Given the description of an element on the screen output the (x, y) to click on. 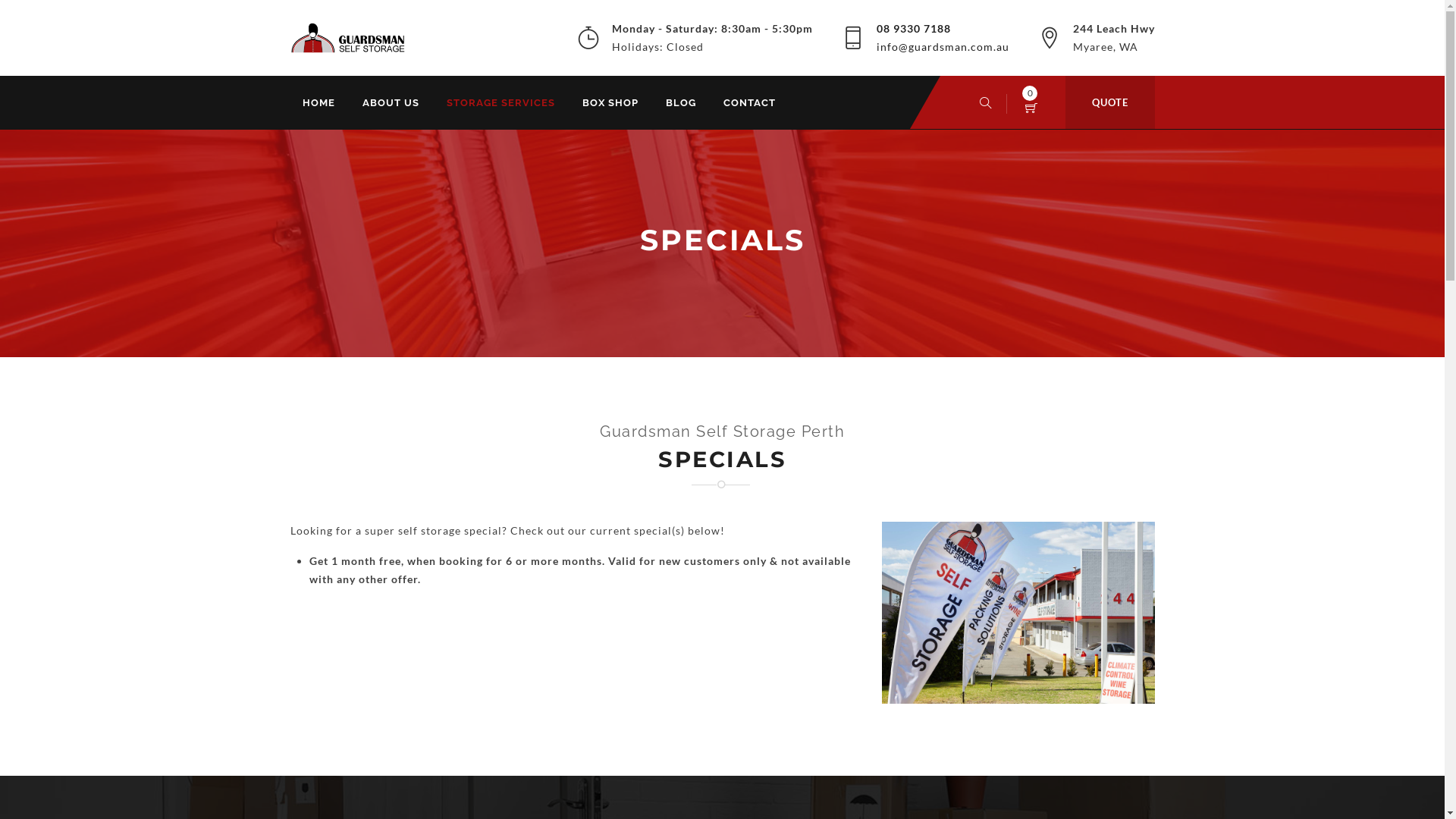
ABOUT US Element type: text (390, 102)
info@guardsman.com.au Element type: text (942, 46)
STORAGE SERVICES Element type: text (499, 102)
0 Element type: text (1030, 107)
BOX SHOP Element type: text (610, 102)
Guardsman Self Storage in Myaree, Perth Element type: hover (348, 37)
HOME Element type: text (317, 102)
BLOG Element type: text (680, 102)
08 9330 7188 Element type: text (913, 27)
QUOTE Element type: text (1109, 101)
CONTACT Element type: text (749, 102)
